Given the description of an element on the screen output the (x, y) to click on. 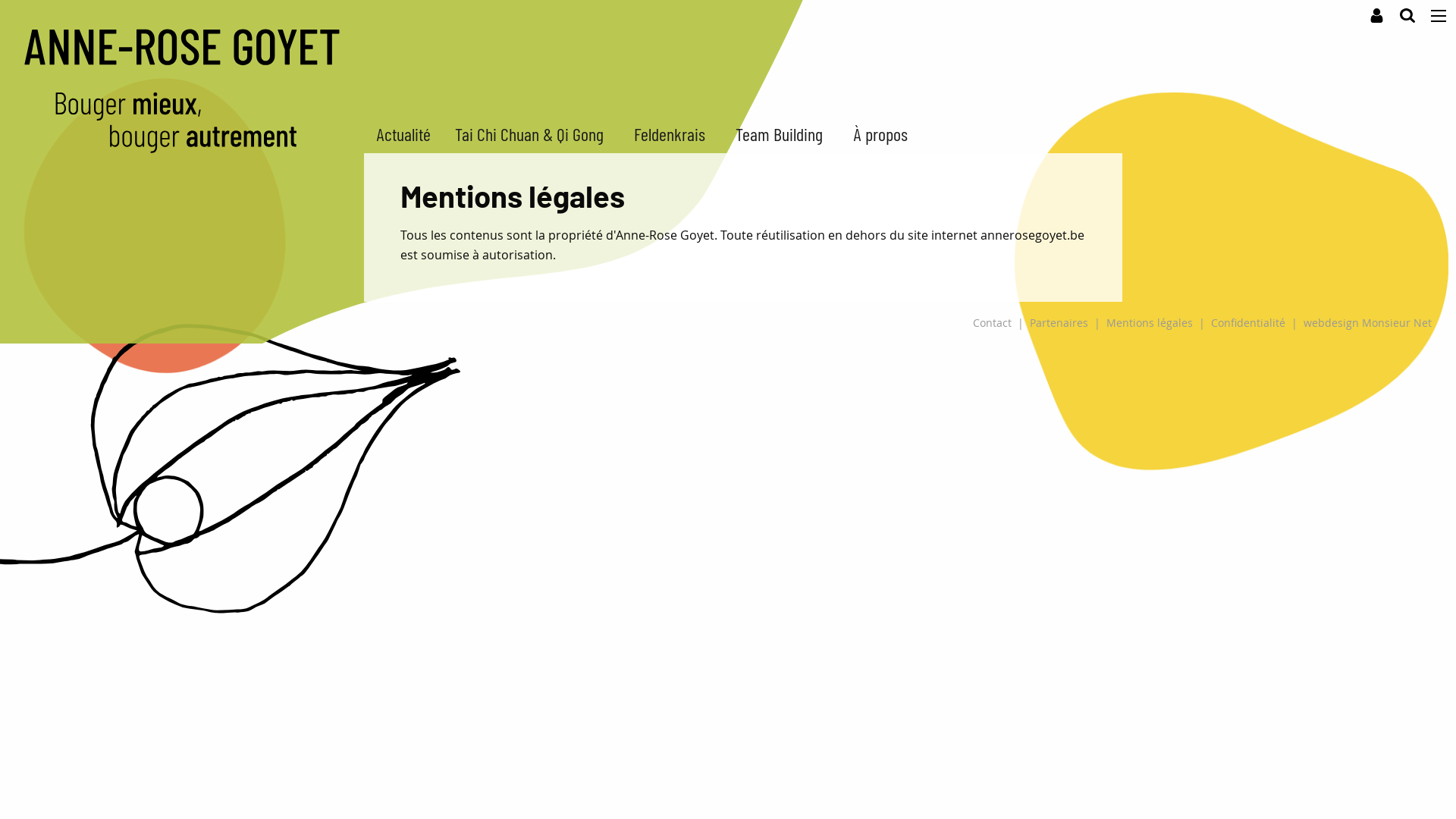
Tai Chi Chuan & Qi Gong Element type: text (531, 135)
webdesign Monsieur Net Element type: text (1367, 322)
Team Building Element type: text (781, 135)
Partenaires Element type: text (1058, 322)
Feldenkrais Element type: text (672, 135)
Contact Element type: text (991, 322)
